Given the description of an element on the screen output the (x, y) to click on. 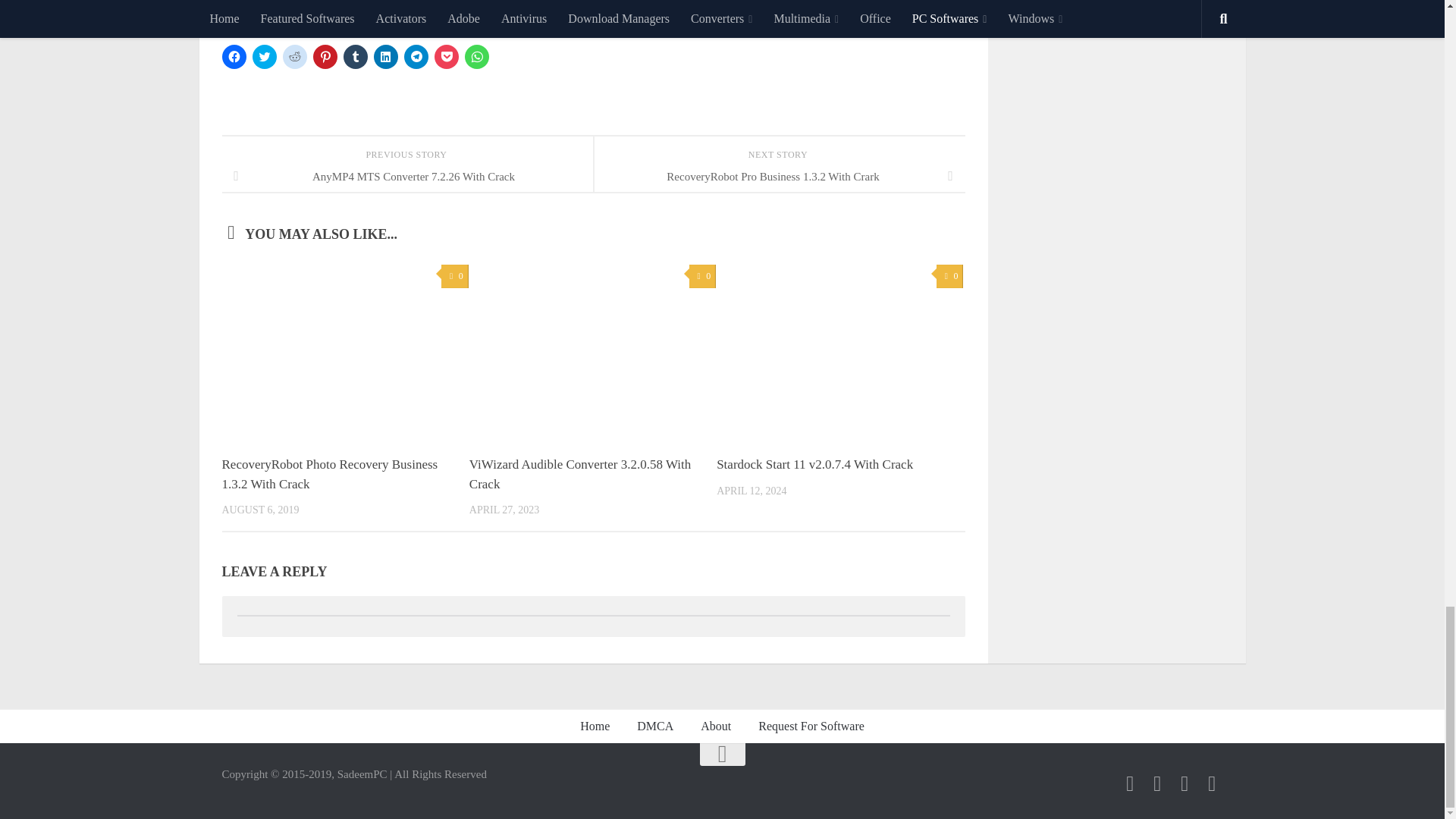
Click to share on Telegram (415, 56)
Click to share on Facebook (233, 56)
Click to share on Reddit (293, 56)
Click to share on Pinterest (324, 56)
Click to share on LinkedIn (384, 56)
Click to share on Pocket (445, 56)
Click to share on WhatsApp (475, 56)
Click to share on Tumblr (354, 56)
Click to share on Twitter (263, 56)
